Given the description of an element on the screen output the (x, y) to click on. 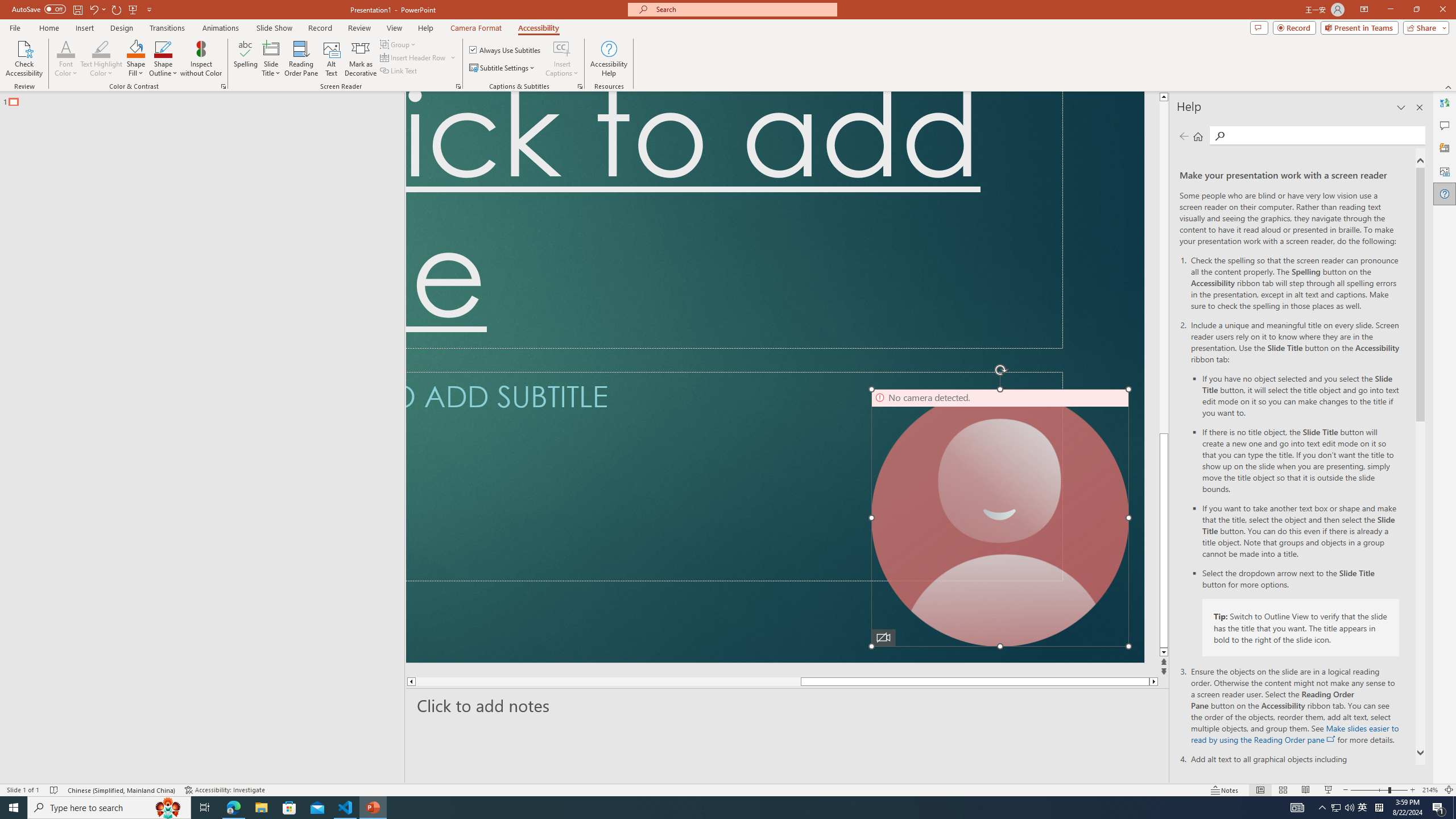
Insert Captions (561, 48)
Zoom (1379, 790)
Shape Outline Blue, Accent 1 (163, 48)
Shape Outline (163, 58)
Rectangle (196, 437)
Previous page (1183, 136)
